Given the description of an element on the screen output the (x, y) to click on. 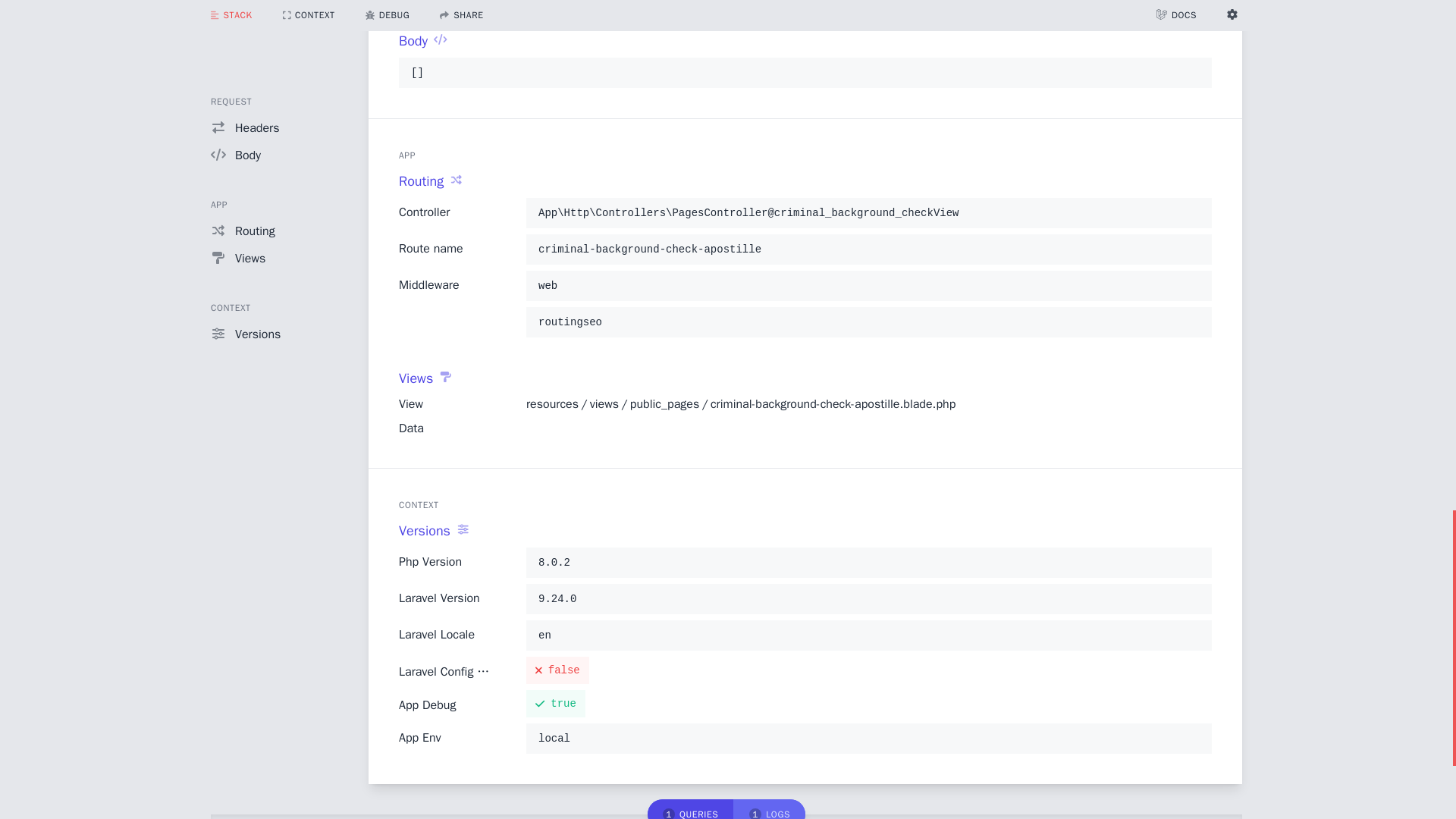
routingseo (868, 321)
9.24.0 (868, 598)
criminal-background-check-apostille (868, 248)
local (868, 738)
web (868, 285)
en (868, 635)
8.0.2 (868, 562)
